Given the description of an element on the screen output the (x, y) to click on. 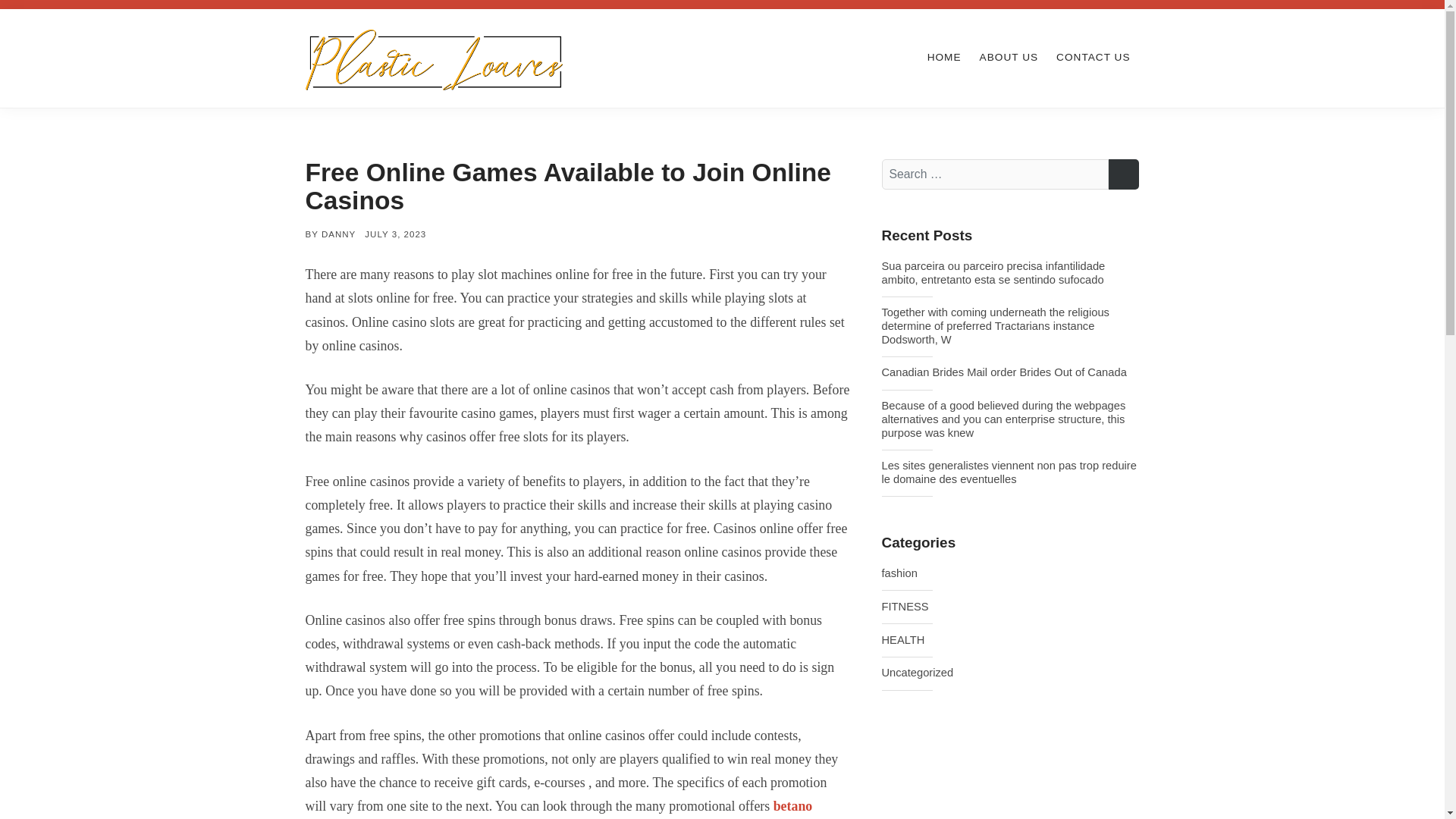
Search for: (994, 173)
ABOUT US (1008, 57)
betano (792, 806)
JULY 3, 2023 (395, 234)
Canadian Brides Mail order Brides Out of Canada (1009, 373)
fashion (898, 573)
Uncategorized (916, 673)
SEARCH (1123, 173)
